Given the description of an element on the screen output the (x, y) to click on. 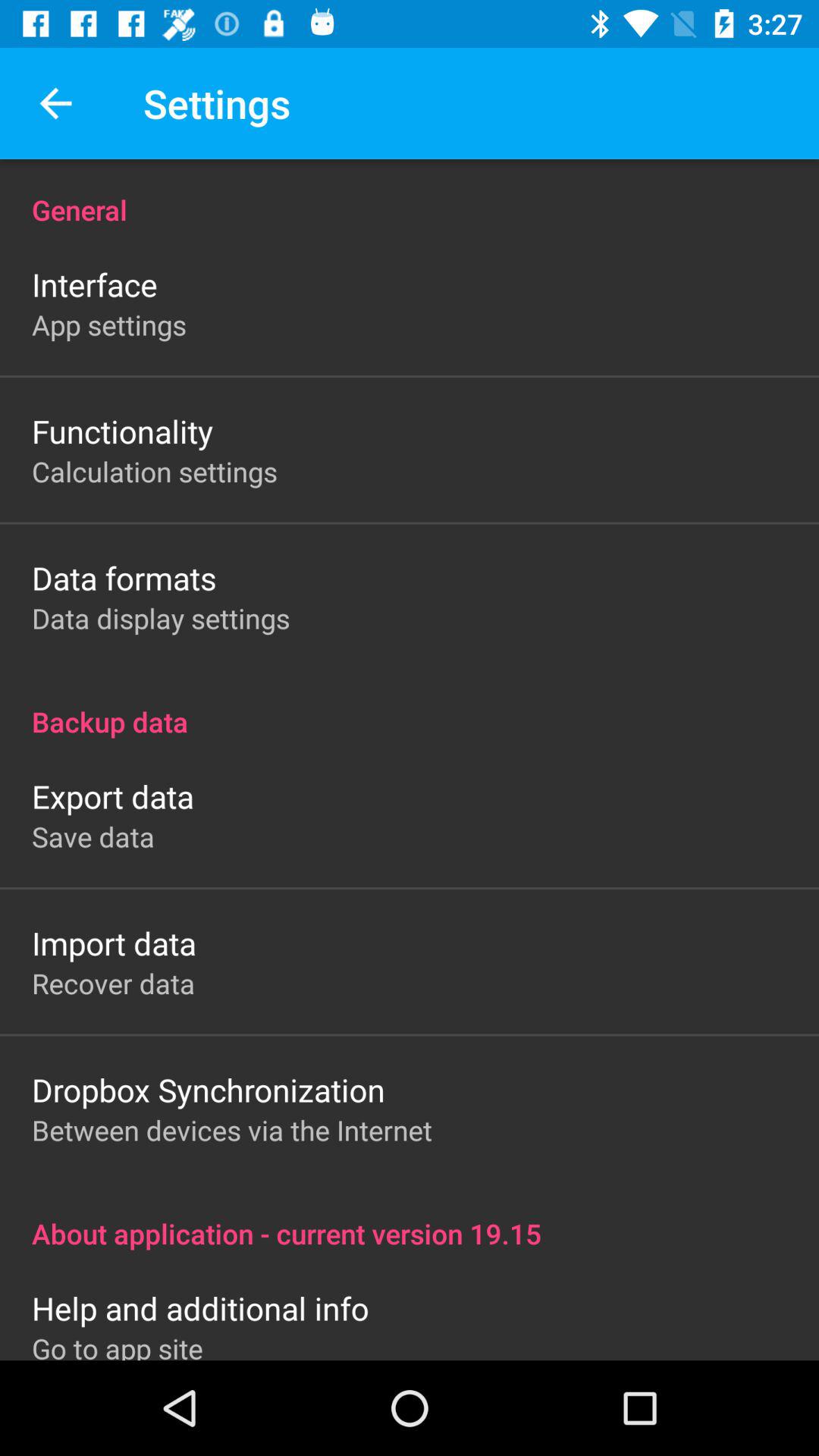
turn off the icon below calculation settings icon (123, 577)
